Given the description of an element on the screen output the (x, y) to click on. 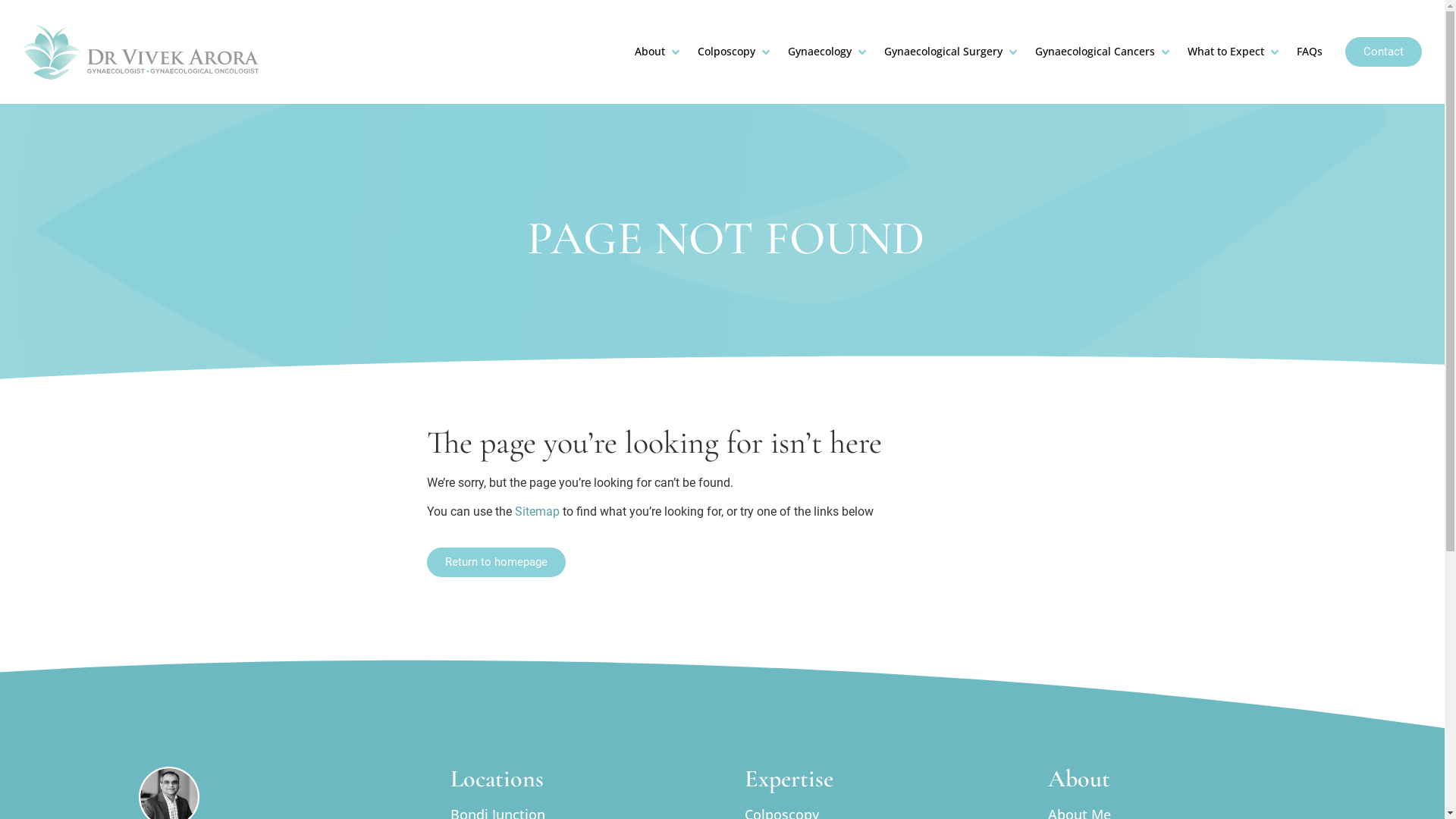
About Element type: text (649, 51)
Contact Element type: text (1383, 51)
What to Expect Element type: text (1225, 51)
Gynaecological Surgery Element type: text (943, 51)
Gynaecology Element type: text (819, 51)
Sitemap Element type: text (536, 511)
Return to homepage Element type: text (495, 562)
Gynaecological Cancers Element type: text (1094, 51)
FAQs Element type: text (1309, 51)
Colposcopy Element type: text (726, 51)
